Given the description of an element on the screen output the (x, y) to click on. 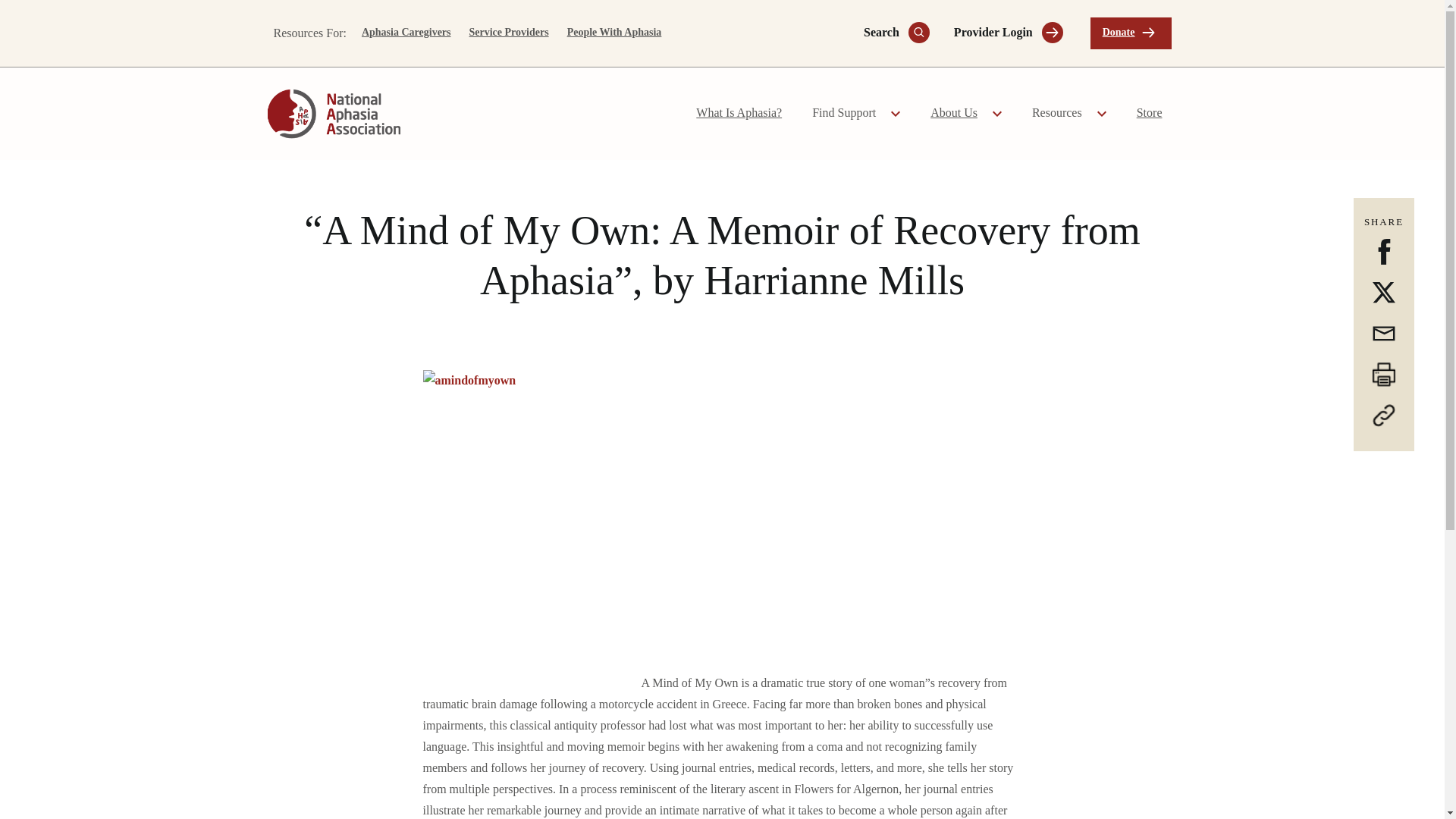
Search (890, 33)
Store (1150, 113)
Donate (1131, 33)
Provider Login (1002, 33)
People With Aphasia (614, 33)
About Us (958, 113)
Aphasia Caregivers (406, 33)
What Is Aphasia? (738, 113)
Service Providers (508, 33)
